Given the description of an element on the screen output the (x, y) to click on. 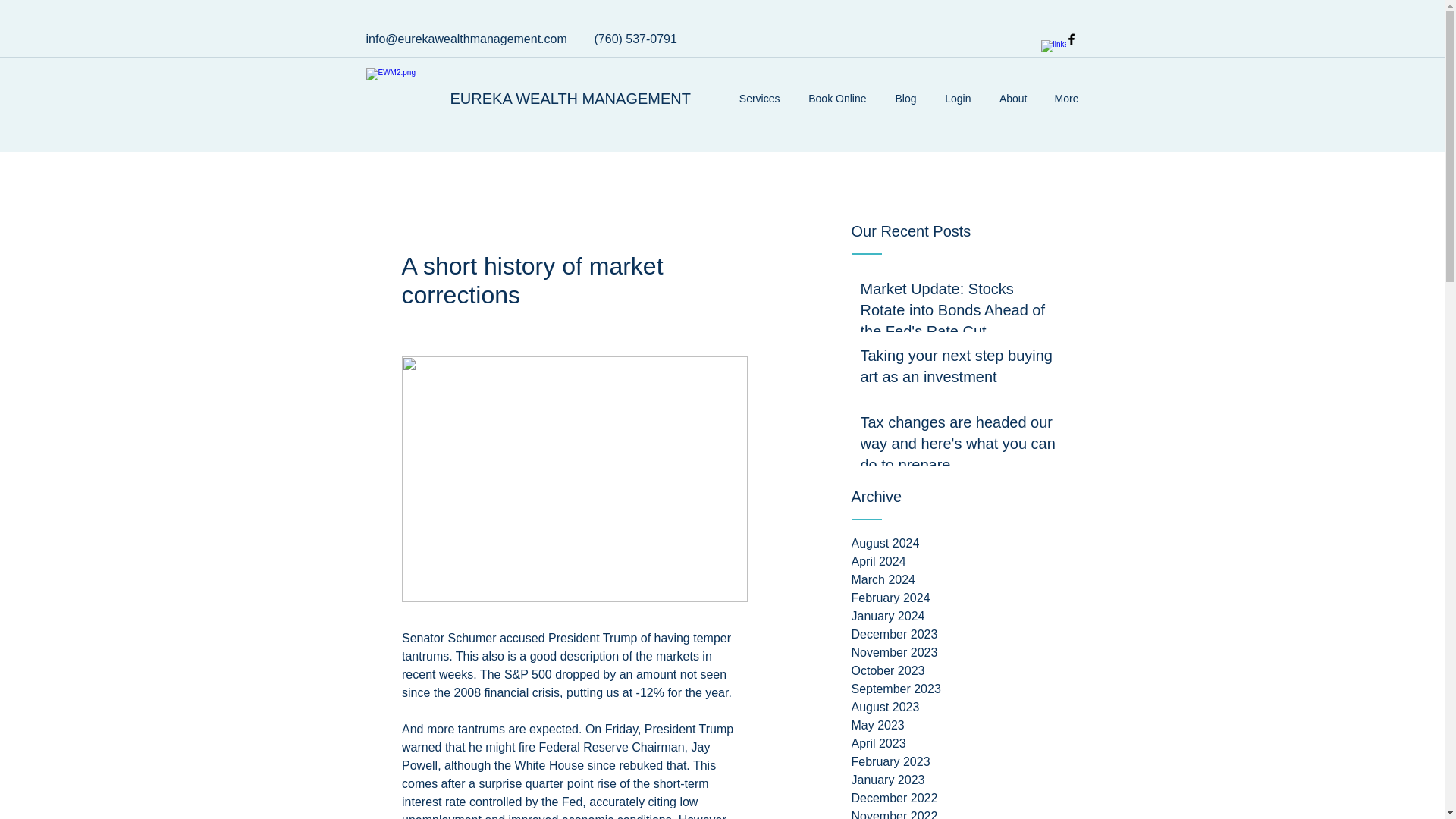
April 2024 (964, 561)
February 2024 (964, 597)
May 2023 (964, 725)
February 2023 (964, 761)
December 2022 (964, 798)
Services (756, 97)
Book Online (834, 97)
November 2022 (964, 813)
March 2024 (964, 579)
